Given the description of an element on the screen output the (x, y) to click on. 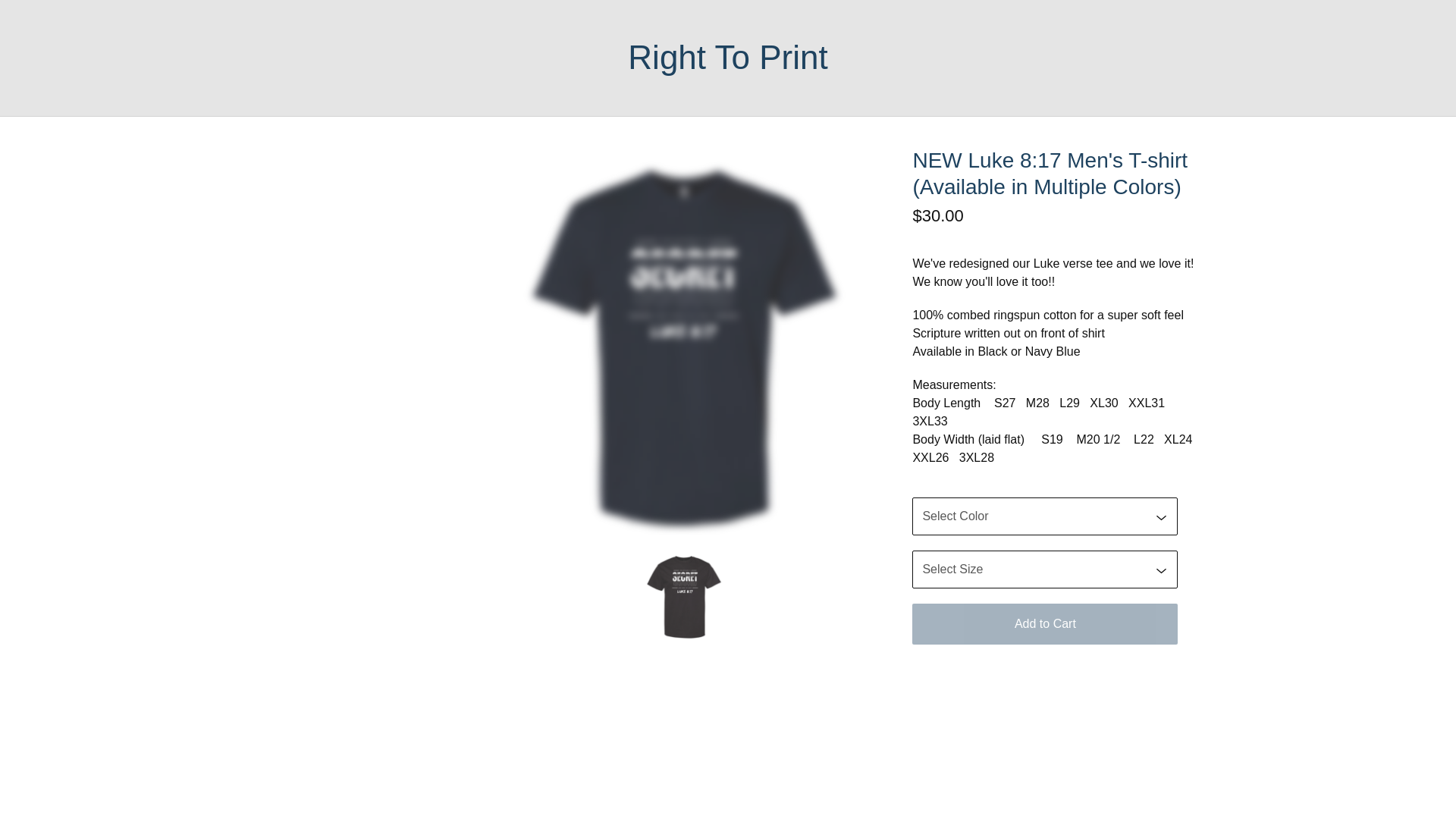
Right To Print (727, 57)
Right To Print (727, 57)
Add to Cart (1044, 623)
